Given the description of an element on the screen output the (x, y) to click on. 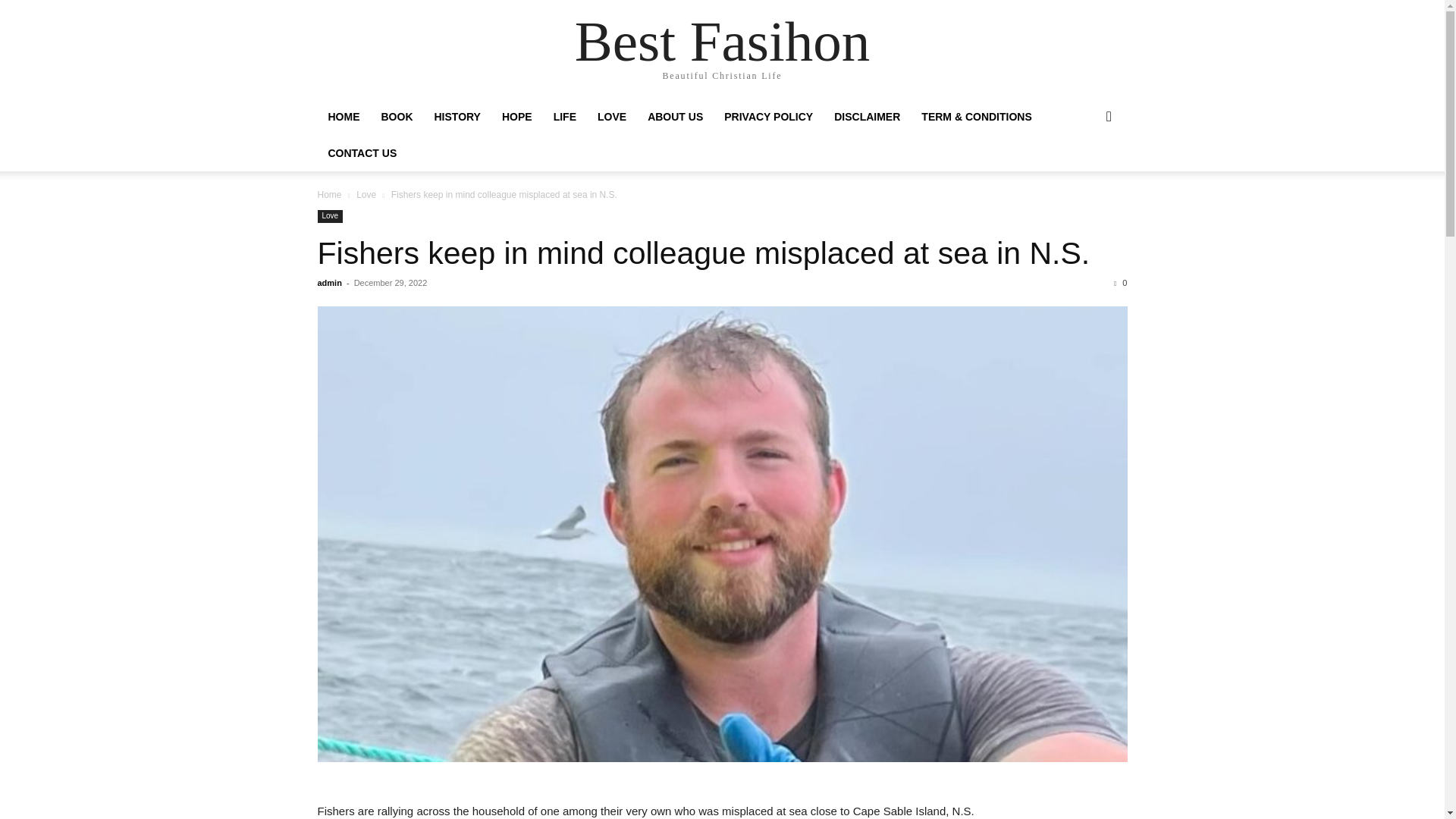
DISCLAIMER (867, 116)
Best Fasihon (722, 41)
View all posts in Love (365, 194)
Fishers keep in mind colleague misplaced at sea in N.S. (703, 253)
Home (328, 194)
Love (329, 215)
Fishers keep in mind colleague misplaced at sea in N.S. (703, 253)
HISTORY (456, 116)
BOOK (396, 116)
LOVE (611, 116)
LIFE (564, 116)
Love (365, 194)
HOME (343, 116)
HOPE (517, 116)
